Given the description of an element on the screen output the (x, y) to click on. 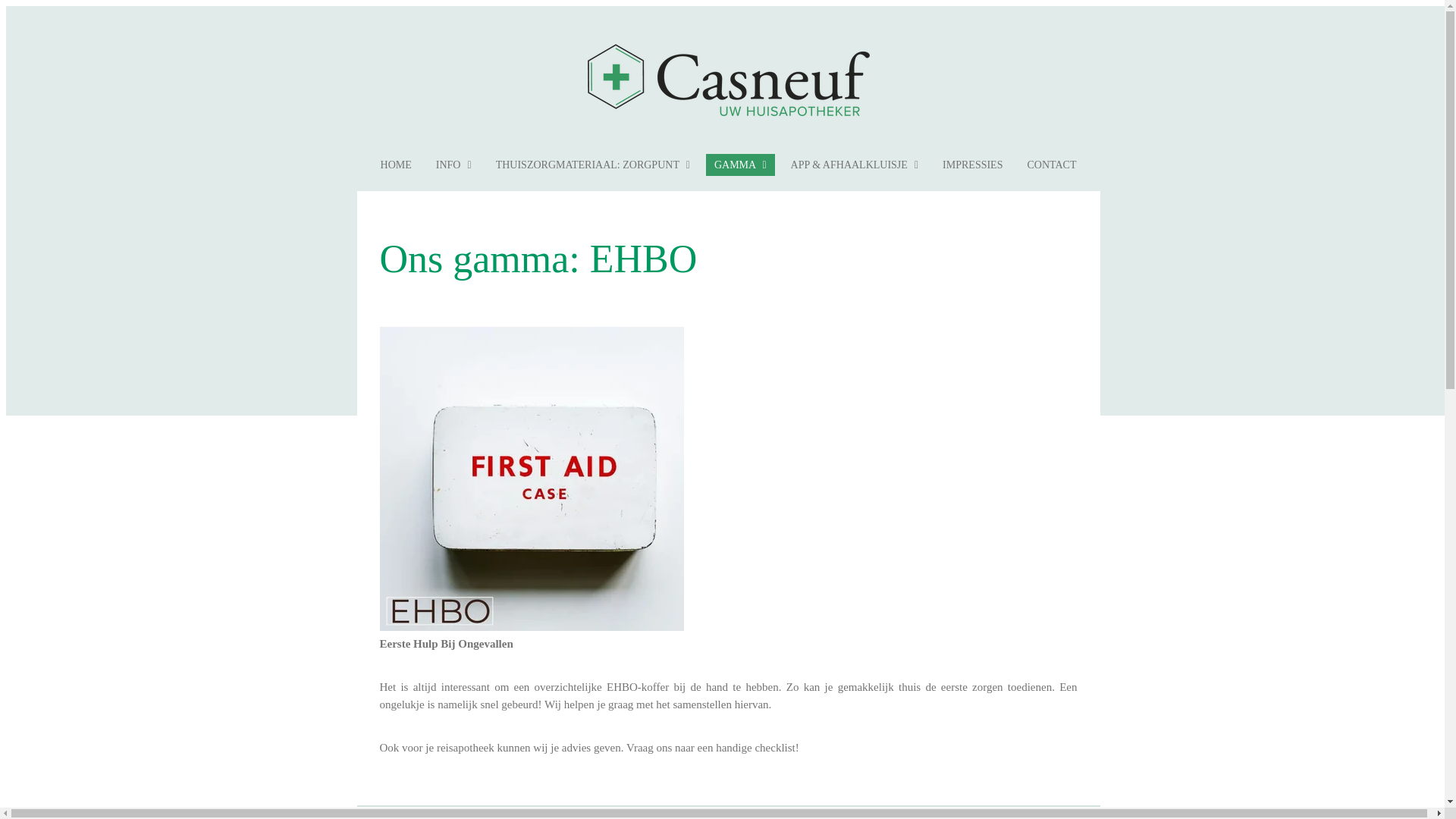
INFO Element type: text (453, 164)
APP & AFHAALKLUISJE Element type: text (854, 164)
HOME Element type: text (396, 164)
THUISZORGMATERIAAL: ZORGPUNT Element type: text (592, 164)
CONTACT Element type: text (1051, 164)
GAMMA Element type: text (740, 164)
apotheekcasneuf Element type: hover (727, 79)
IMPRESSIES Element type: text (972, 164)
